Given the description of an element on the screen output the (x, y) to click on. 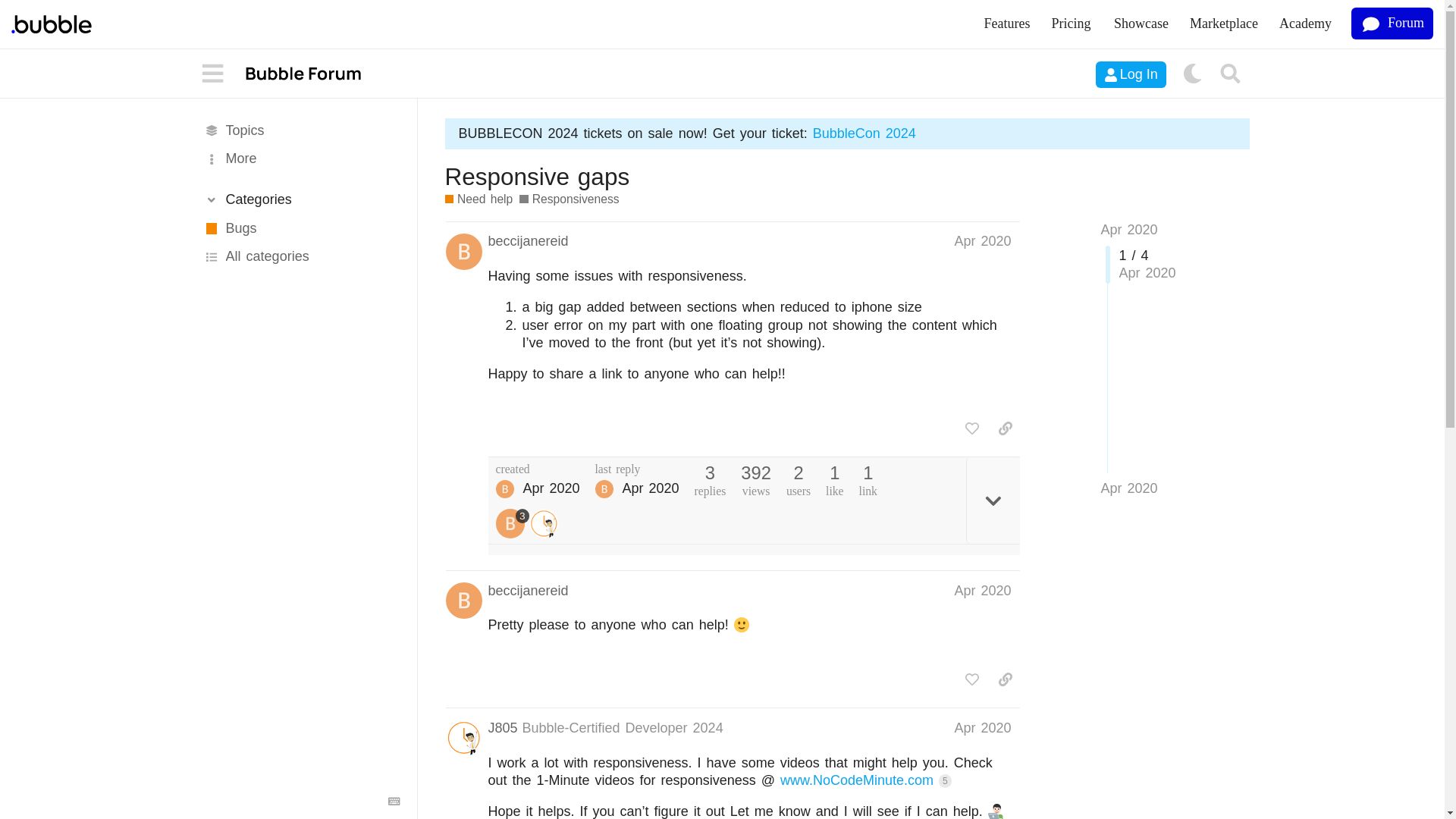
BubbleCon 2024 (863, 133)
Topics (300, 130)
last reply (637, 469)
Forum (1391, 23)
Responsive gaps (536, 176)
Becs (504, 488)
Apr 2020 (1128, 488)
3 (512, 523)
Bugs (300, 227)
Search (1230, 73)
Categories (300, 199)
like this post (972, 428)
Post date (981, 240)
Toggle section (300, 199)
Keyboard Shortcuts (394, 801)
